Given the description of an element on the screen output the (x, y) to click on. 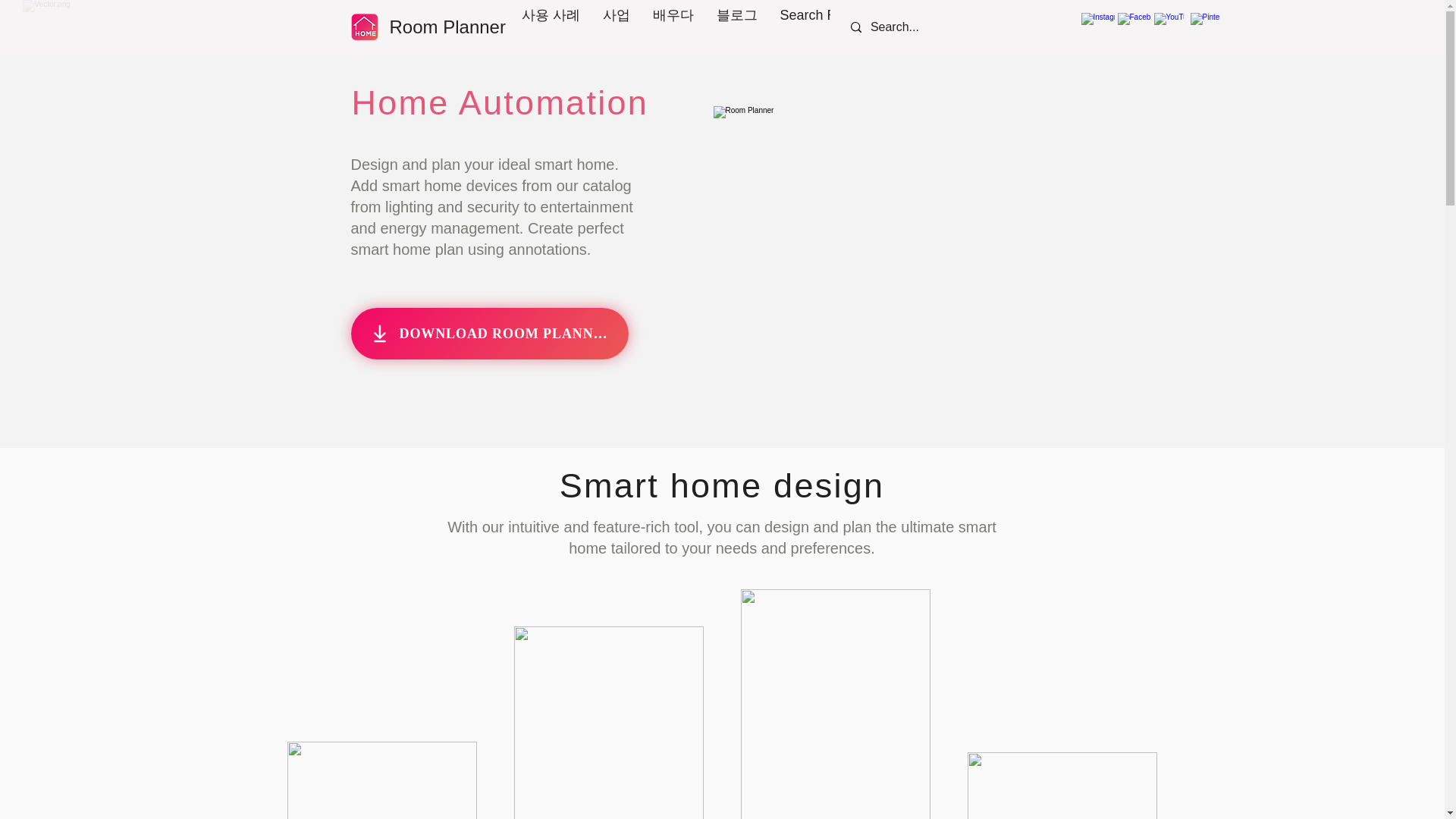
3D Interior Design App (925, 249)
DOWNLOAD ROOM PLANNER (488, 333)
Room Planner (447, 26)
Search Results (825, 26)
